Given the description of an element on the screen output the (x, y) to click on. 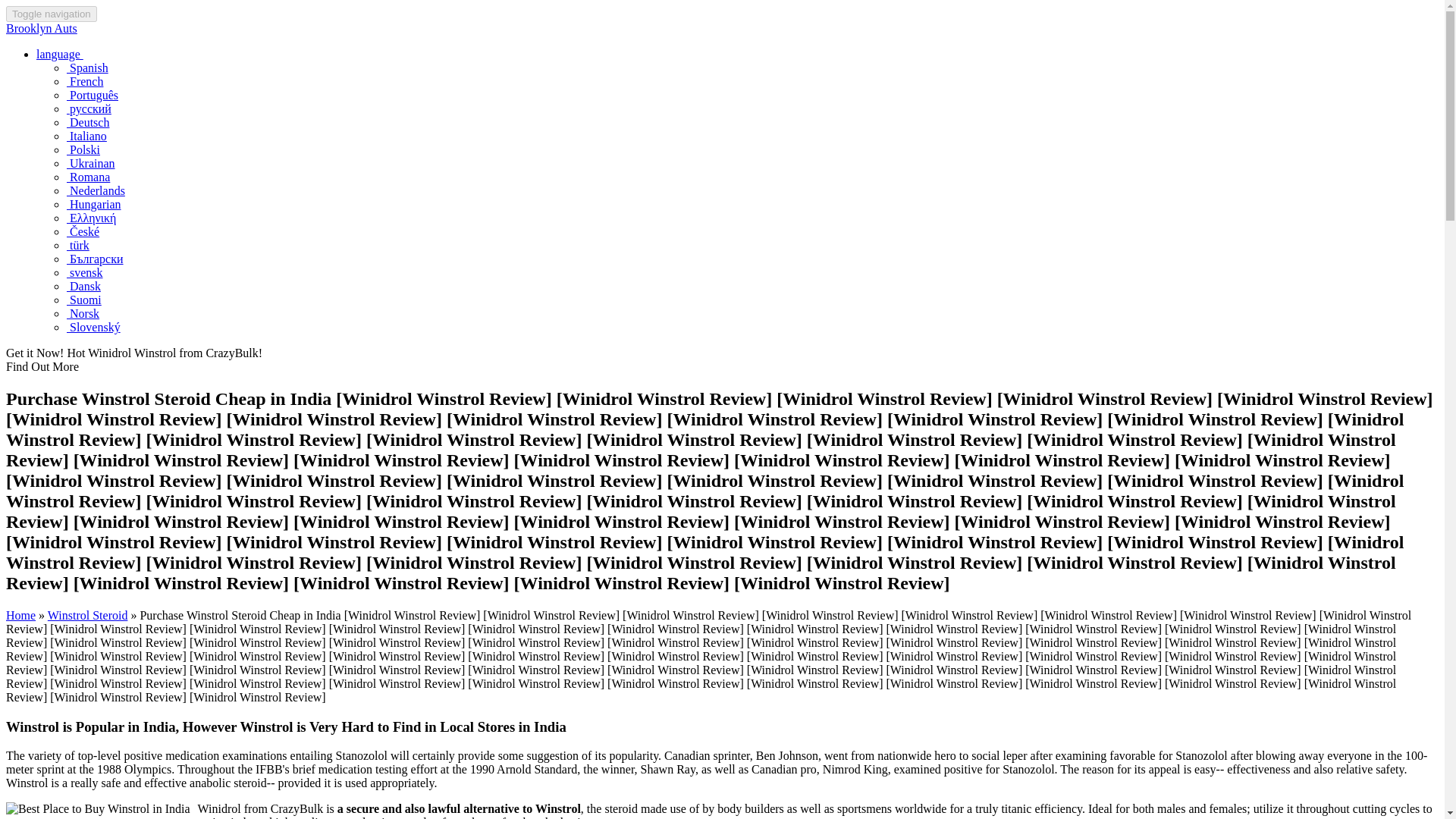
 Nederlands (95, 190)
 Suomi (83, 299)
Brooklyn Auts - Health and Beauty Products (41, 28)
Language (59, 53)
Winstrol Steroid (88, 615)
 Ukrainan (90, 163)
Best Place to Buy Winstrol in India (97, 808)
 Norsk (82, 313)
Toggle navigation (51, 13)
 Polski (83, 149)
